Given the description of an element on the screen output the (x, y) to click on. 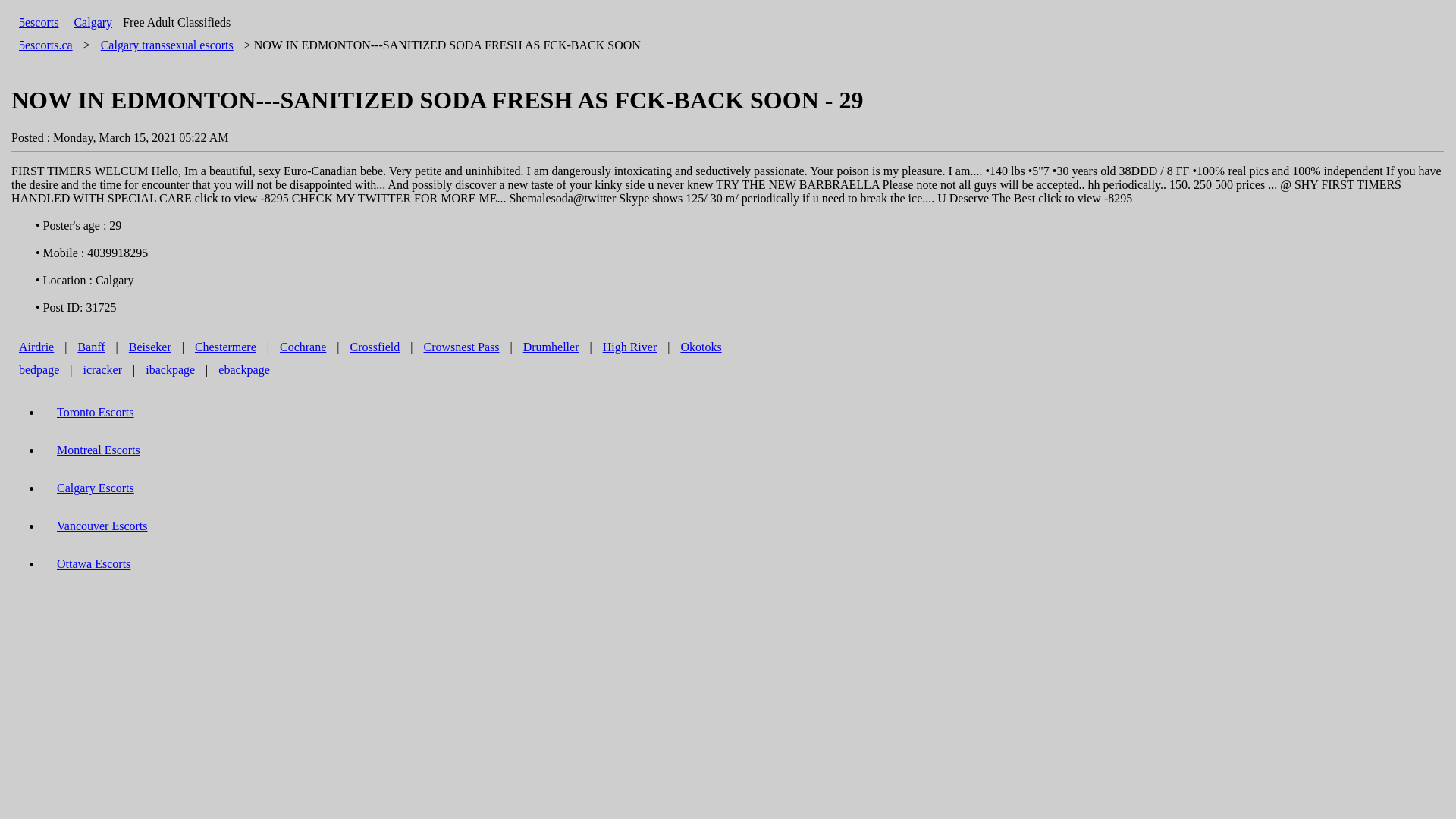
Cochrane Element type: text (302, 346)
5escorts Element type: text (38, 22)
Crowsnest Pass Element type: text (460, 346)
Banff Element type: text (90, 346)
Okotoks Element type: text (700, 346)
Calgary Escorts Element type: text (95, 487)
icracker Element type: text (102, 369)
Chestermere Element type: text (225, 346)
Vancouver Escorts Element type: text (102, 525)
High River Element type: text (630, 346)
bedpage Element type: text (38, 369)
Calgary transsexual escorts Element type: text (167, 45)
Drumheller Element type: text (550, 346)
5escorts.ca Element type: text (45, 45)
Crossfield Element type: text (374, 346)
Ottawa Escorts Element type: text (93, 563)
Montreal Escorts Element type: text (98, 450)
ebackpage Element type: text (243, 369)
Toronto Escorts Element type: text (95, 412)
ibackpage Element type: text (170, 369)
Calgary Element type: text (92, 22)
Airdrie Element type: text (36, 346)
Beiseker Element type: text (149, 346)
